Given the description of an element on the screen output the (x, y) to click on. 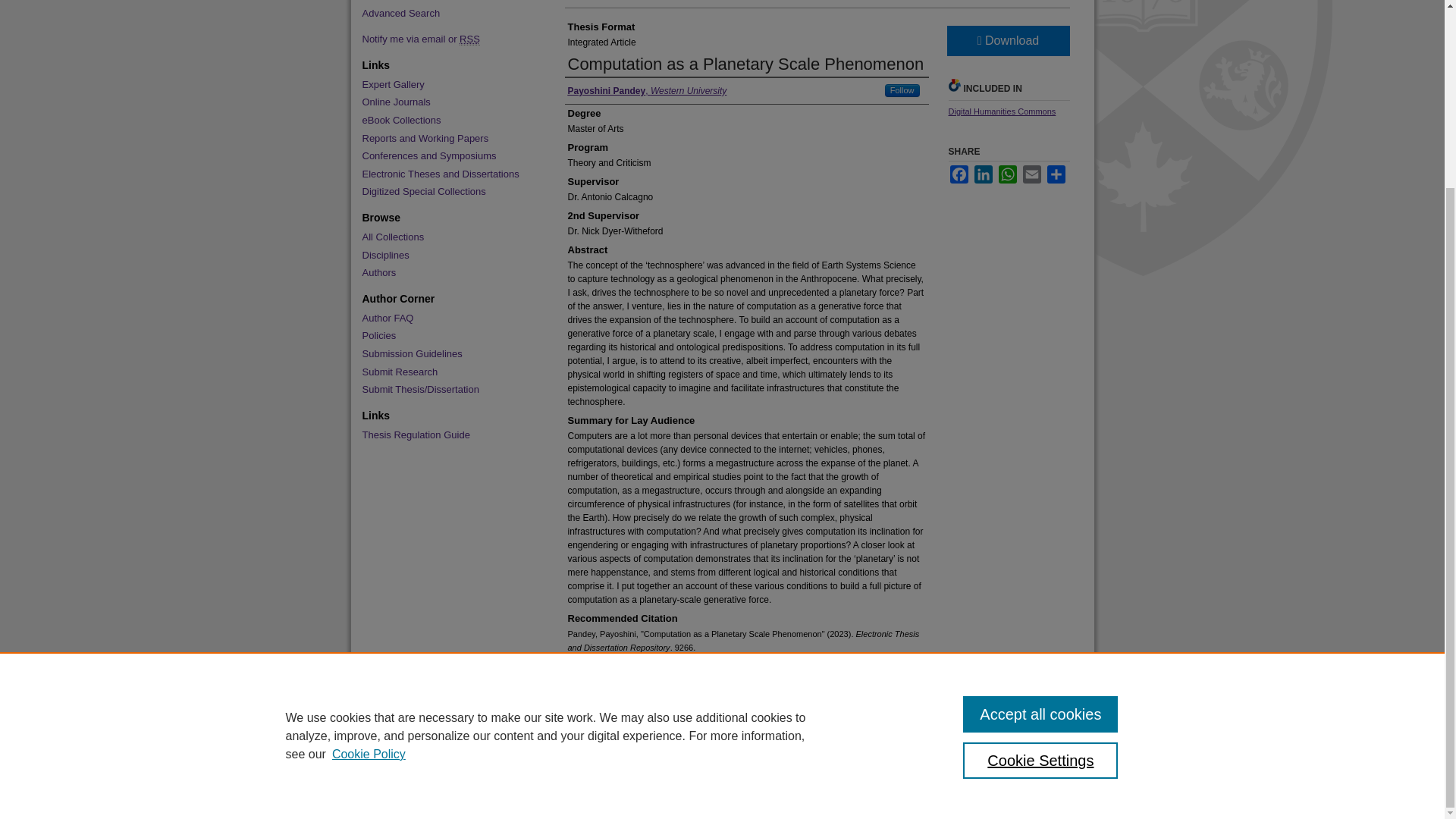
Really Simple Syndication (470, 39)
LinkedIn (982, 174)
Share (1055, 174)
eBook Collections (447, 120)
Expert Gallery (447, 84)
Electronic Theses and Dissertations (447, 174)
Email (1031, 174)
Reports and Working Papers (447, 138)
Digital Humanities Commons (1001, 111)
Creative Commons Attribution 4.0 License (772, 722)
Facebook (958, 174)
Payoshini Pandey, Western University (646, 90)
Follow Payoshini Pandey (902, 90)
Digital Humanities Commons (1001, 111)
Notify me via email or RSS (447, 39)
